Given the description of an element on the screen output the (x, y) to click on. 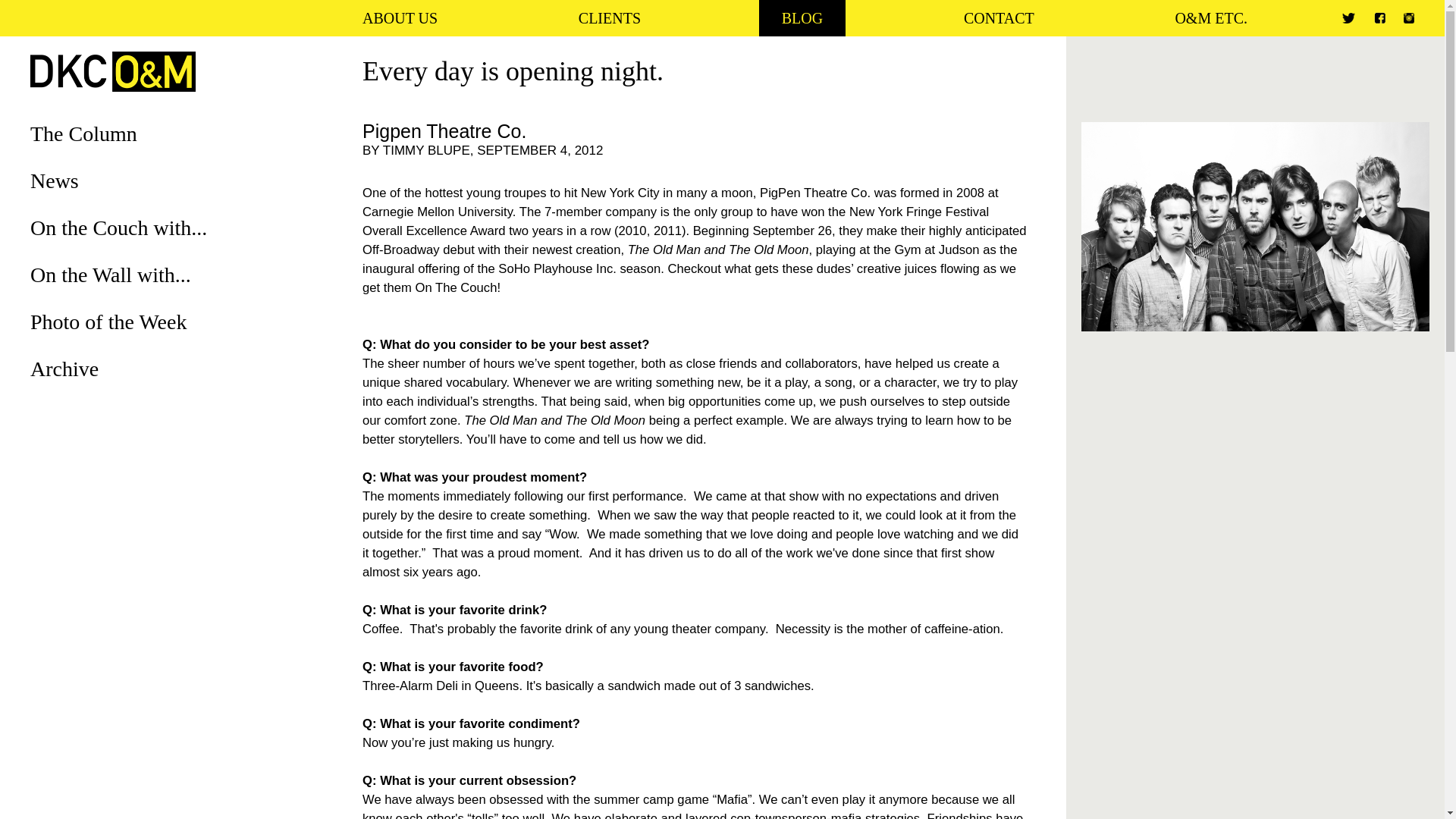
BLOG (801, 18)
CLIENTS (609, 18)
Twitter (1348, 18)
Facebook (1380, 17)
ABOUT US (399, 18)
The Column (83, 133)
News (54, 180)
On the Couch with... (118, 227)
Instagram (1408, 18)
CONTACT (998, 18)
On the Wall with... (110, 274)
